Given the description of an element on the screen output the (x, y) to click on. 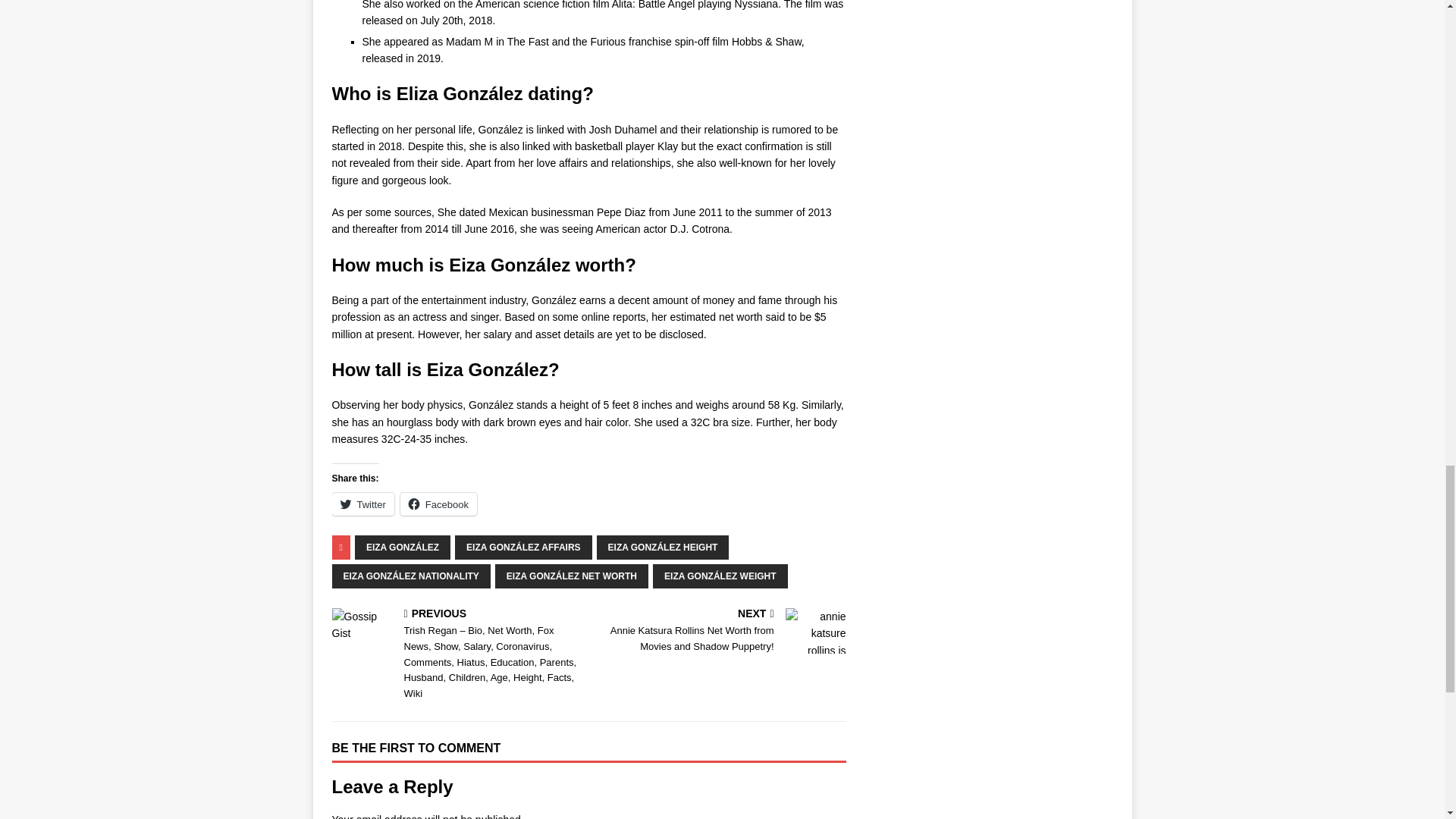
Facebook (438, 504)
Click to share on Twitter (362, 504)
Click to share on Facebook (438, 504)
Twitter (362, 504)
